Given the description of an element on the screen output the (x, y) to click on. 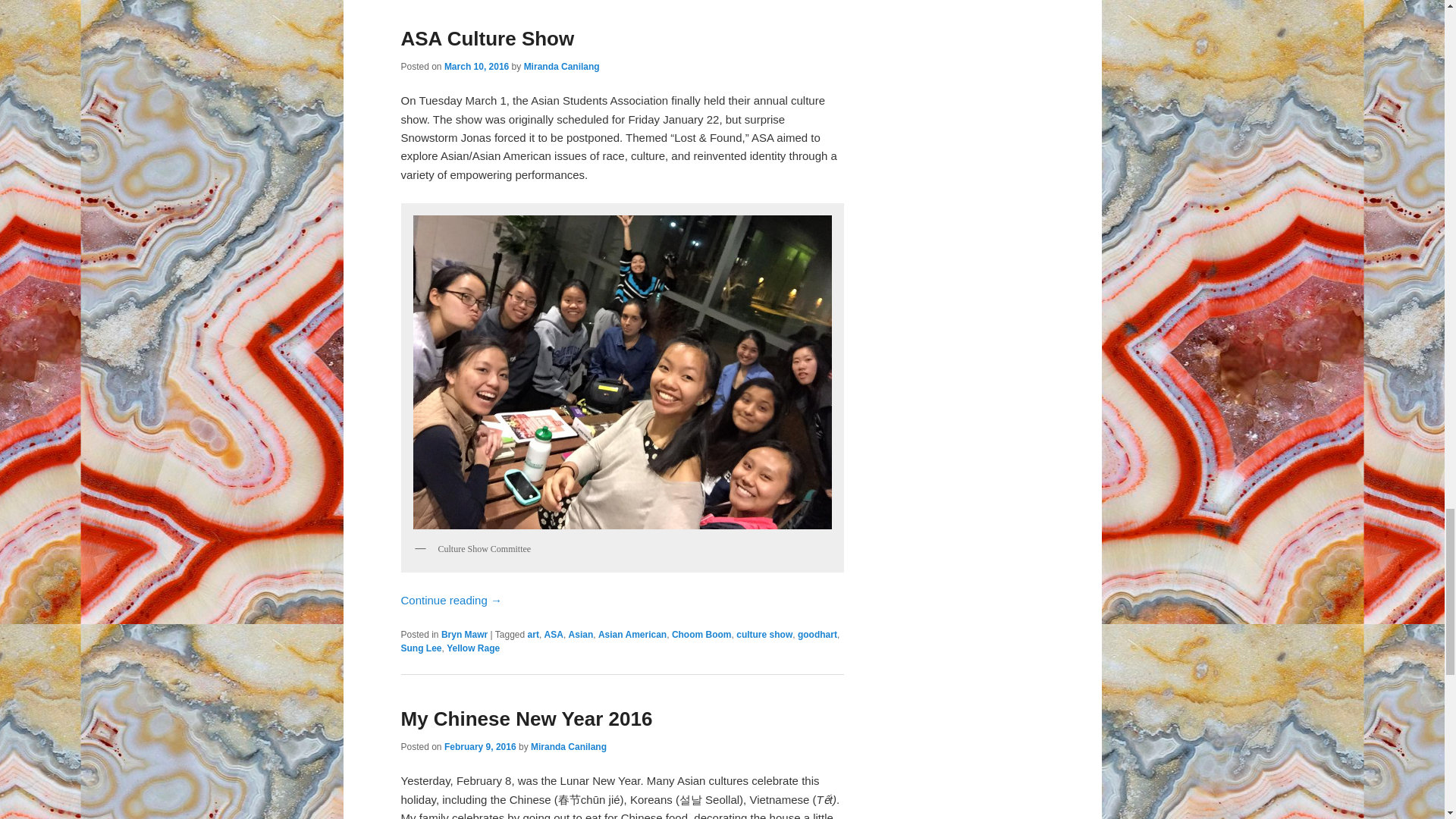
5:22 pm (476, 66)
10:51 am (480, 747)
View all posts by Miranda Canilang (569, 747)
View all posts by Miranda Canilang (561, 66)
